Given the description of an element on the screen output the (x, y) to click on. 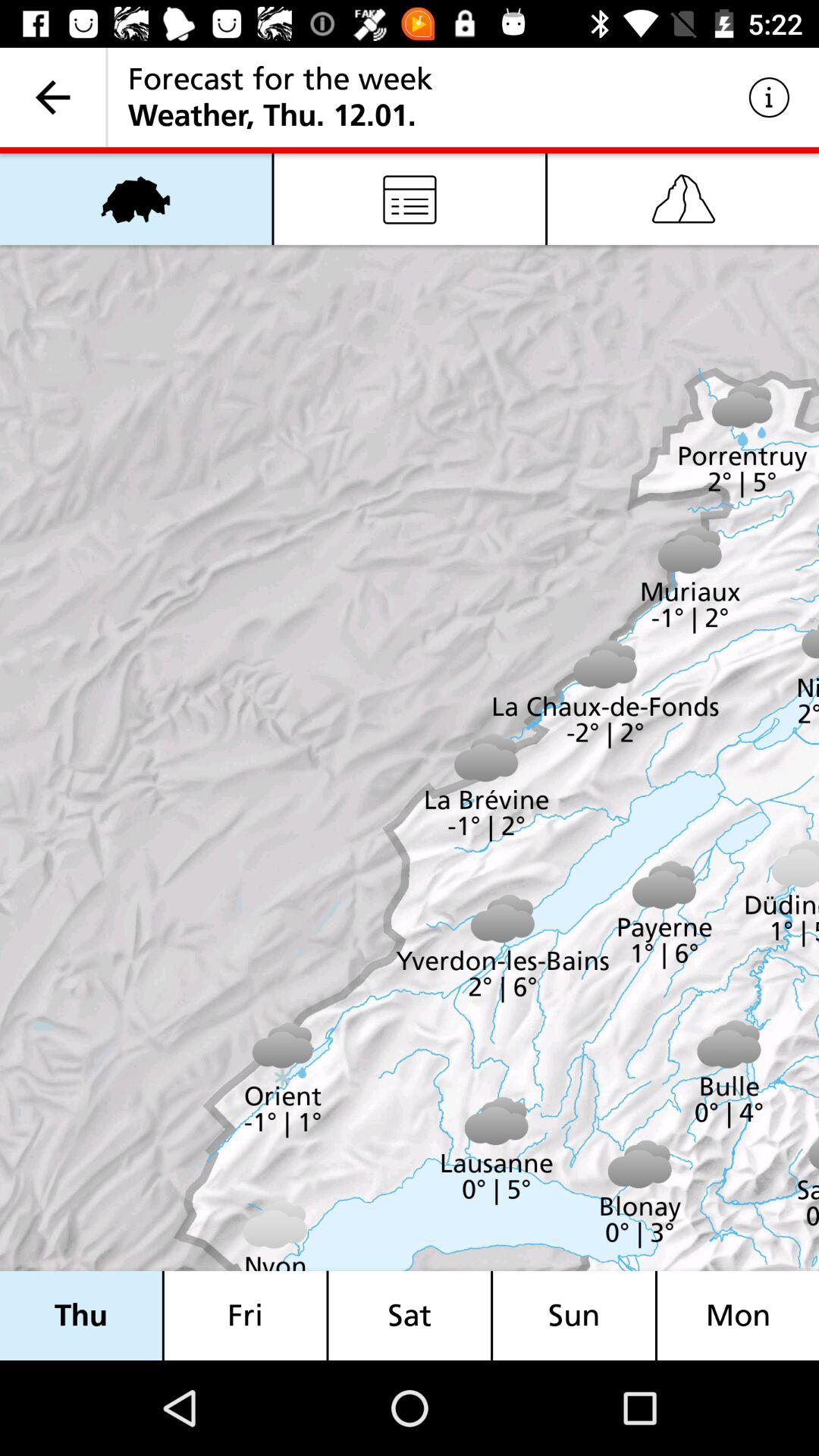
launch icon above thu (135, 199)
